Given the description of an element on the screen output the (x, y) to click on. 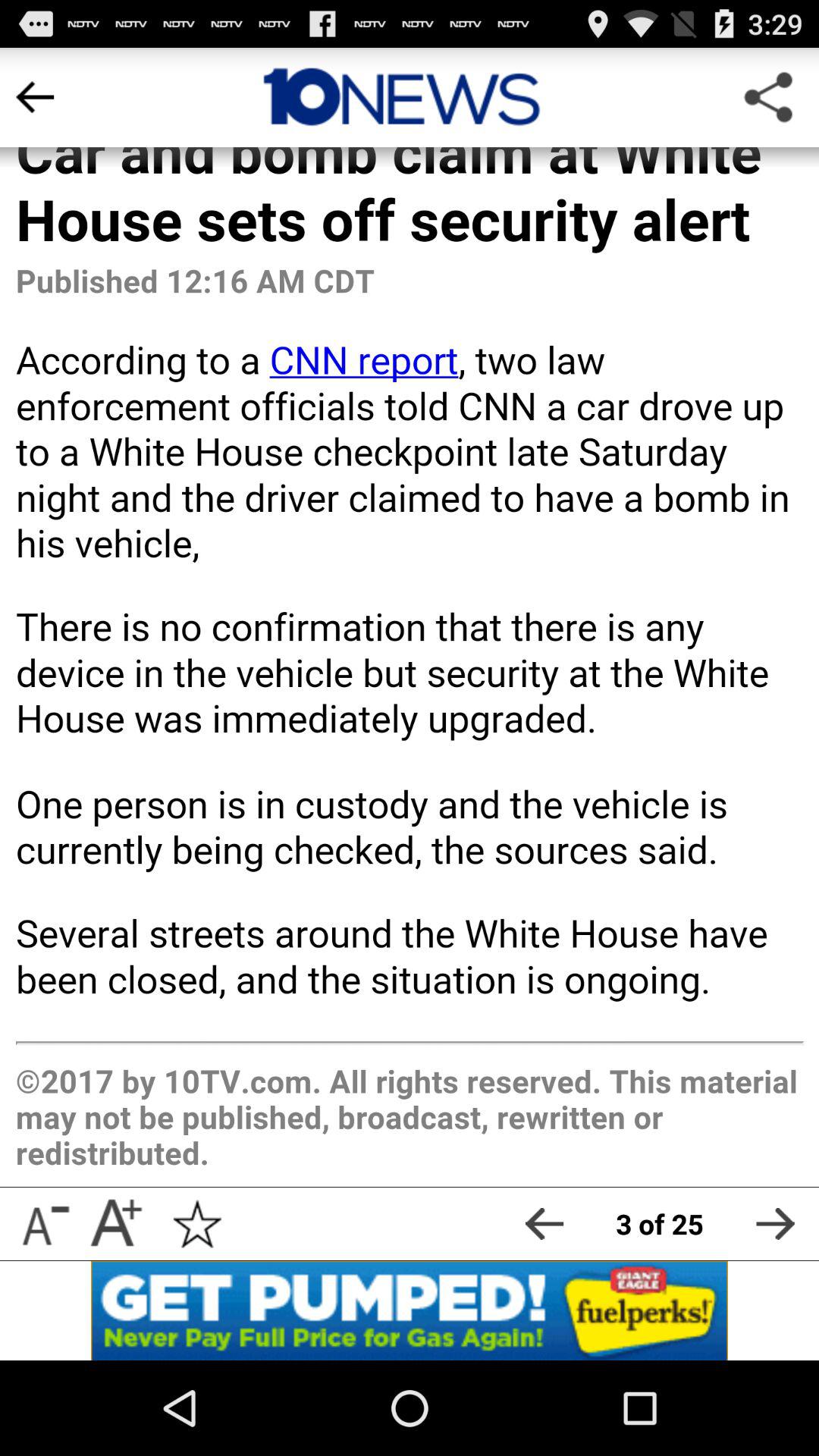
go to the article source (401, 97)
